Given the description of an element on the screen output the (x, y) to click on. 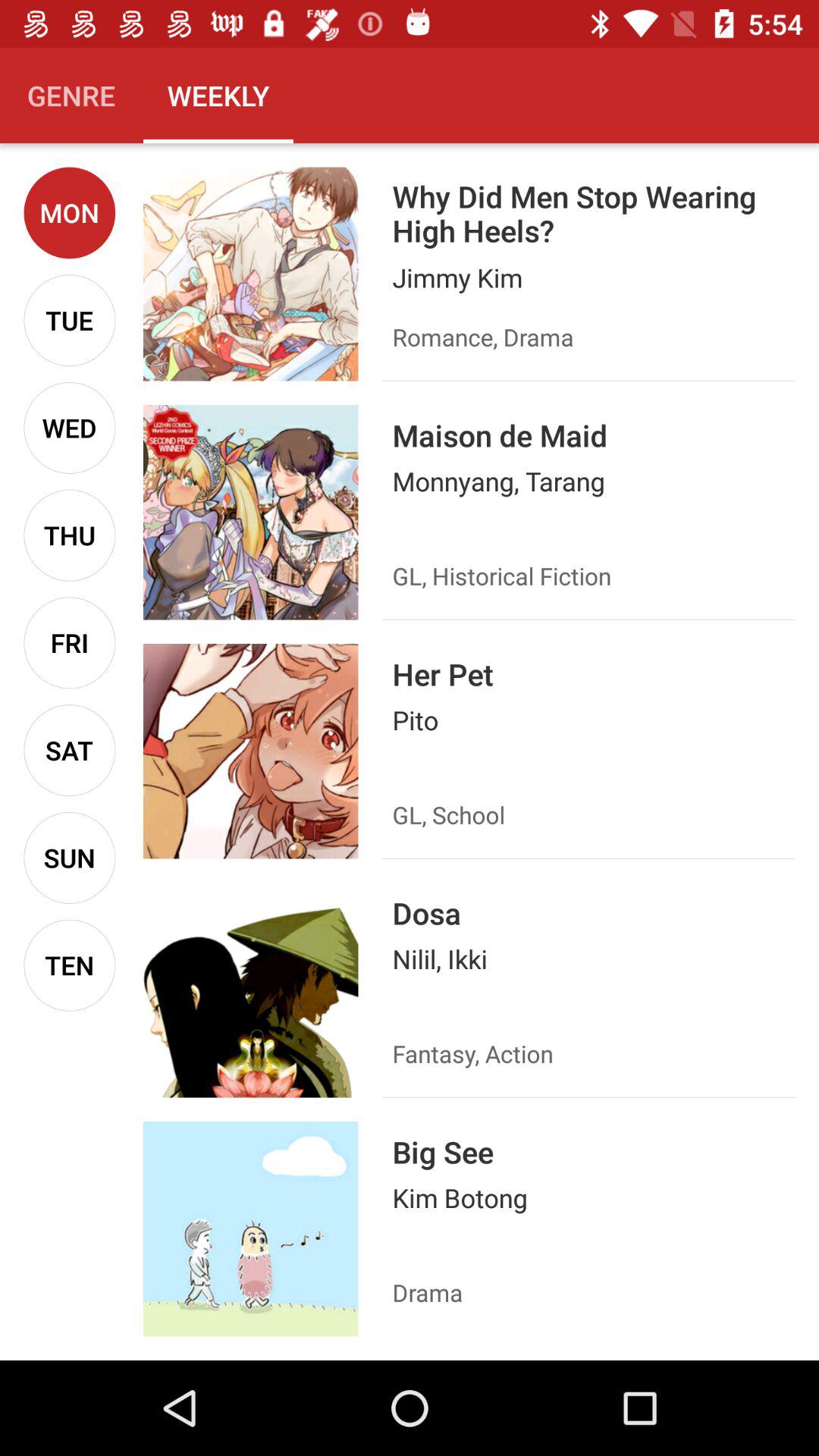
swipe until the thu (69, 535)
